Given the description of an element on the screen output the (x, y) to click on. 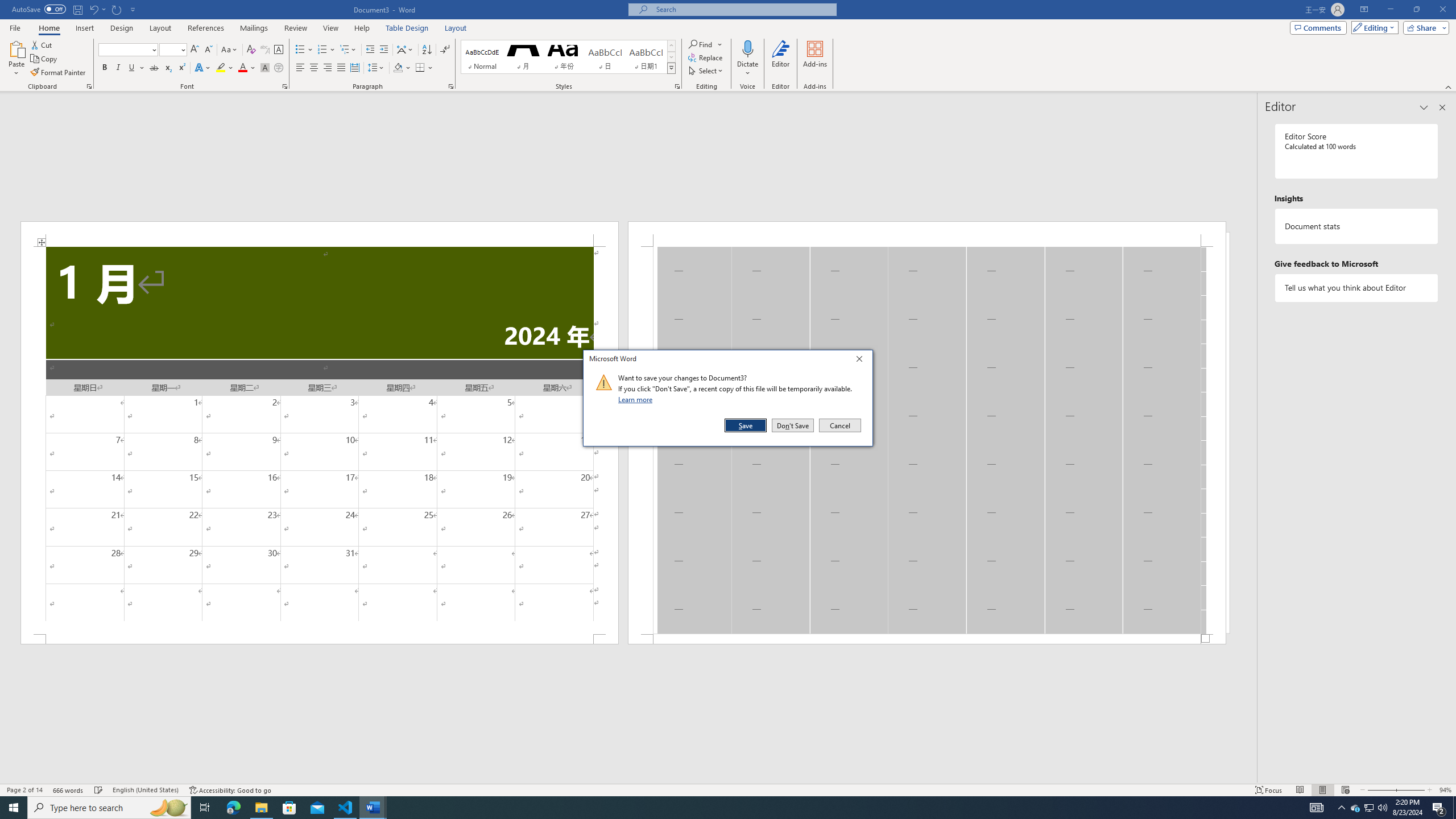
Font Color RGB(255, 0, 0) (241, 67)
Learn more (636, 399)
